Given the description of an element on the screen output the (x, y) to click on. 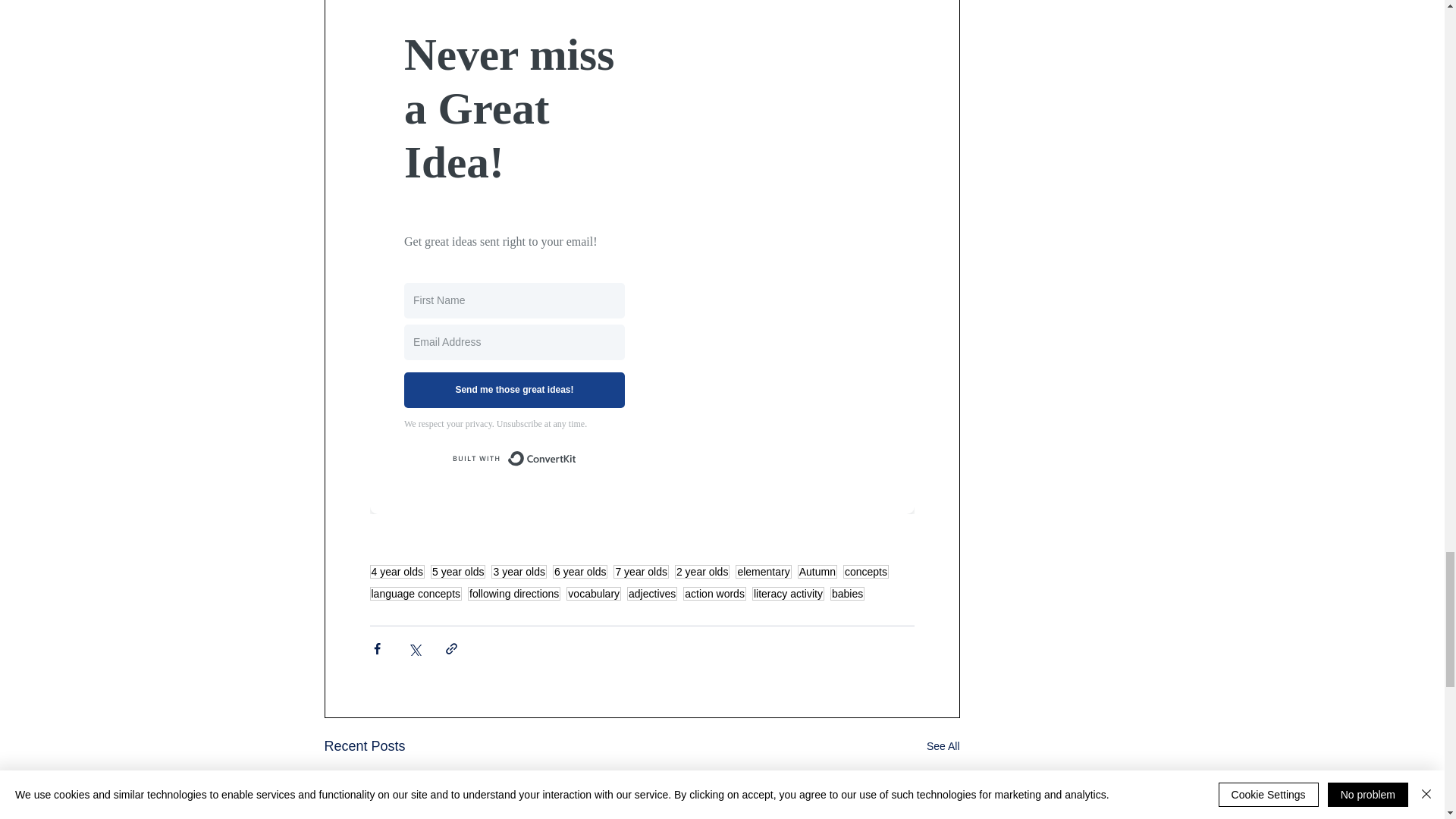
language concepts (416, 593)
6 year olds (580, 571)
elementary (762, 571)
concepts (865, 571)
4 year olds (397, 571)
2 year olds (702, 571)
3 year olds (519, 571)
7 year olds (640, 571)
5 year olds (457, 571)
Autumn (817, 571)
